Given the description of an element on the screen output the (x, y) to click on. 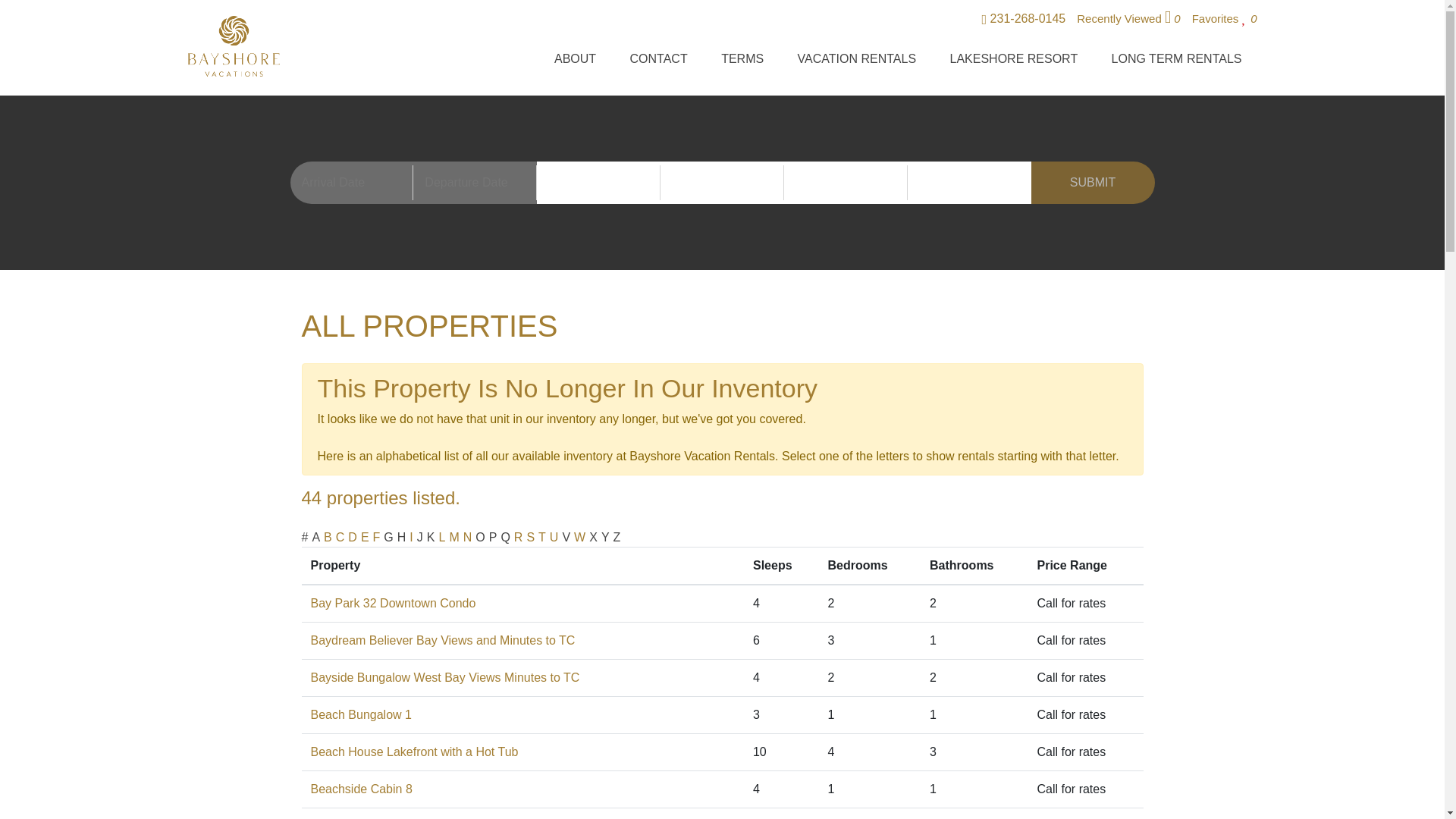
Bayside Bungalow West Bay Views Minutes to TC (445, 676)
Baydream Believer Bay Views and Minutes to TC (443, 640)
Bayshore Vacation Rentals (233, 45)
ABOUT (574, 62)
VACATION RENTALS (857, 62)
Bayshore Vacations Logo (233, 45)
Bay Park 32 Downtown Condo (393, 603)
Beachside Cabin 8 (361, 788)
Beach Bungalow 1 (361, 714)
LAKESHORE RESORT (1013, 62)
